Given the description of an element on the screen output the (x, y) to click on. 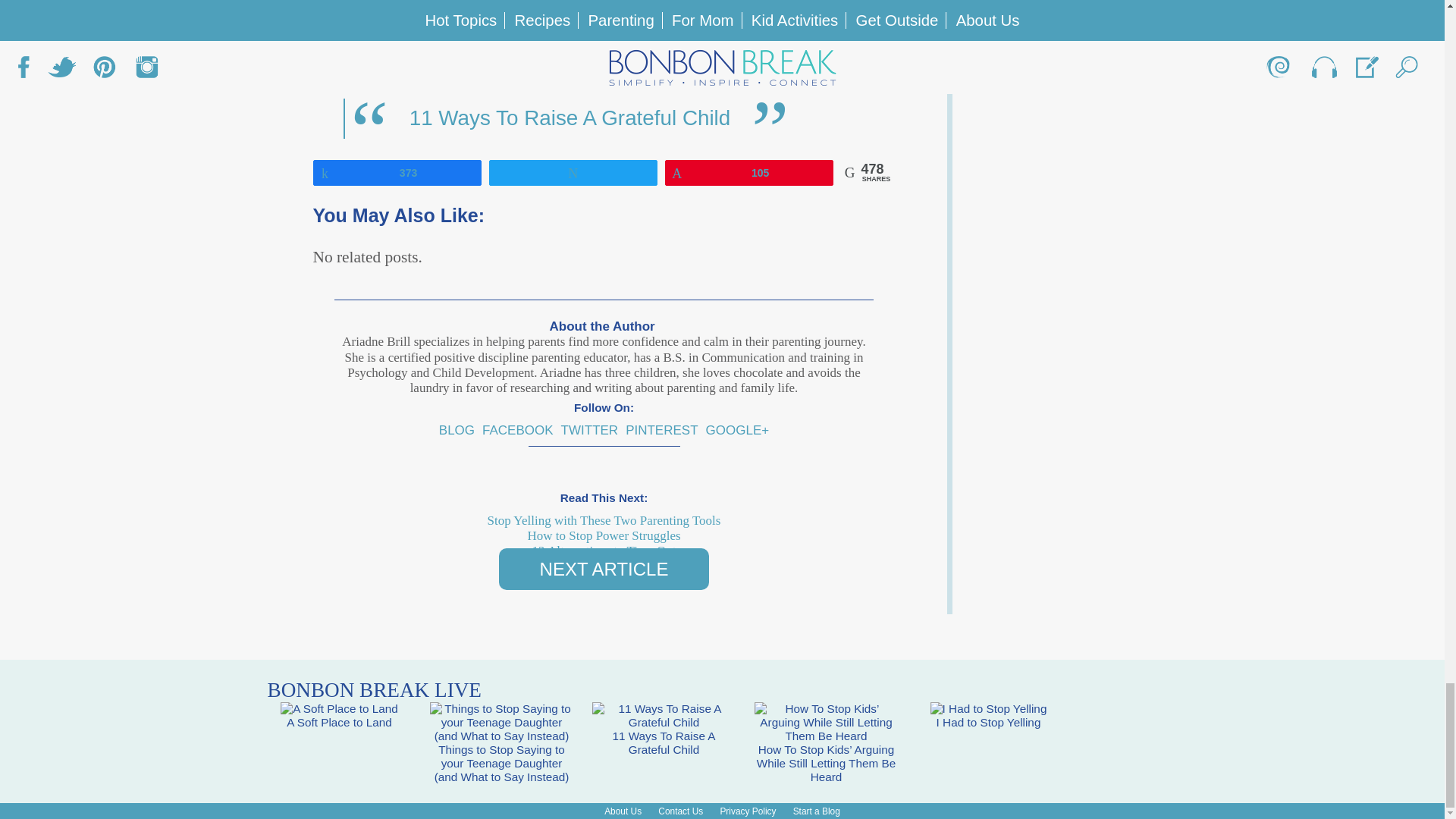
FACEBOOK (517, 430)
11 Ways To Raise A Grateful Child (569, 117)
Stop Yelling with These Two Parenting Tools (603, 520)
PINTEREST (661, 430)
How to Stop Power Struggles (603, 535)
A Step-by-Step Plan for Setting Up Parental Controls (584, 40)
373 (397, 171)
105 (748, 171)
TWITTER (589, 430)
BLOG (456, 430)
